Given the description of an element on the screen output the (x, y) to click on. 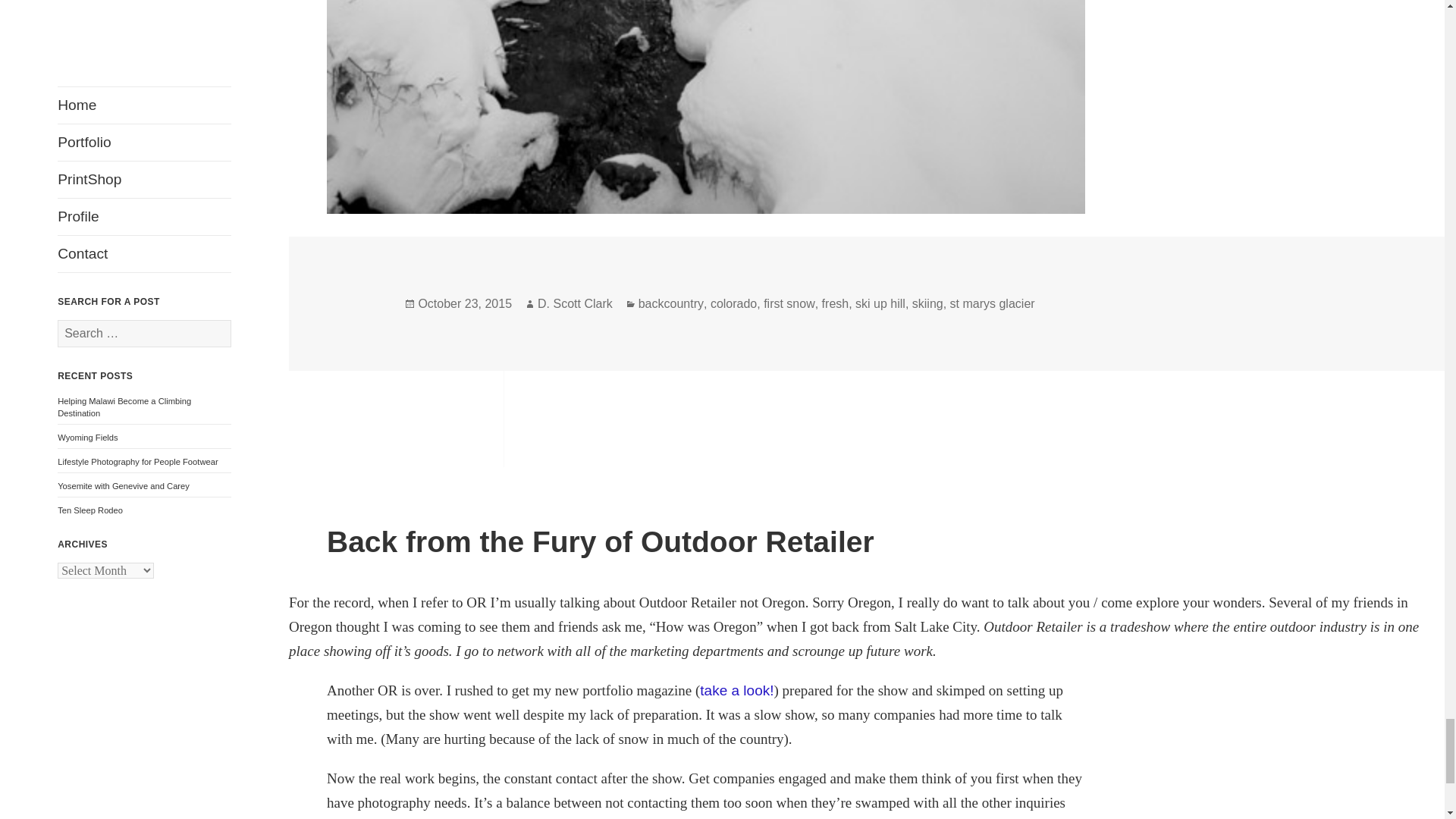
D. Scott Clark (574, 304)
D. Scott Clark (574, 304)
backcountry (671, 304)
October 23, 2015 (464, 304)
October 23, 2015March 8, 2017 (464, 304)
